Given the description of an element on the screen output the (x, y) to click on. 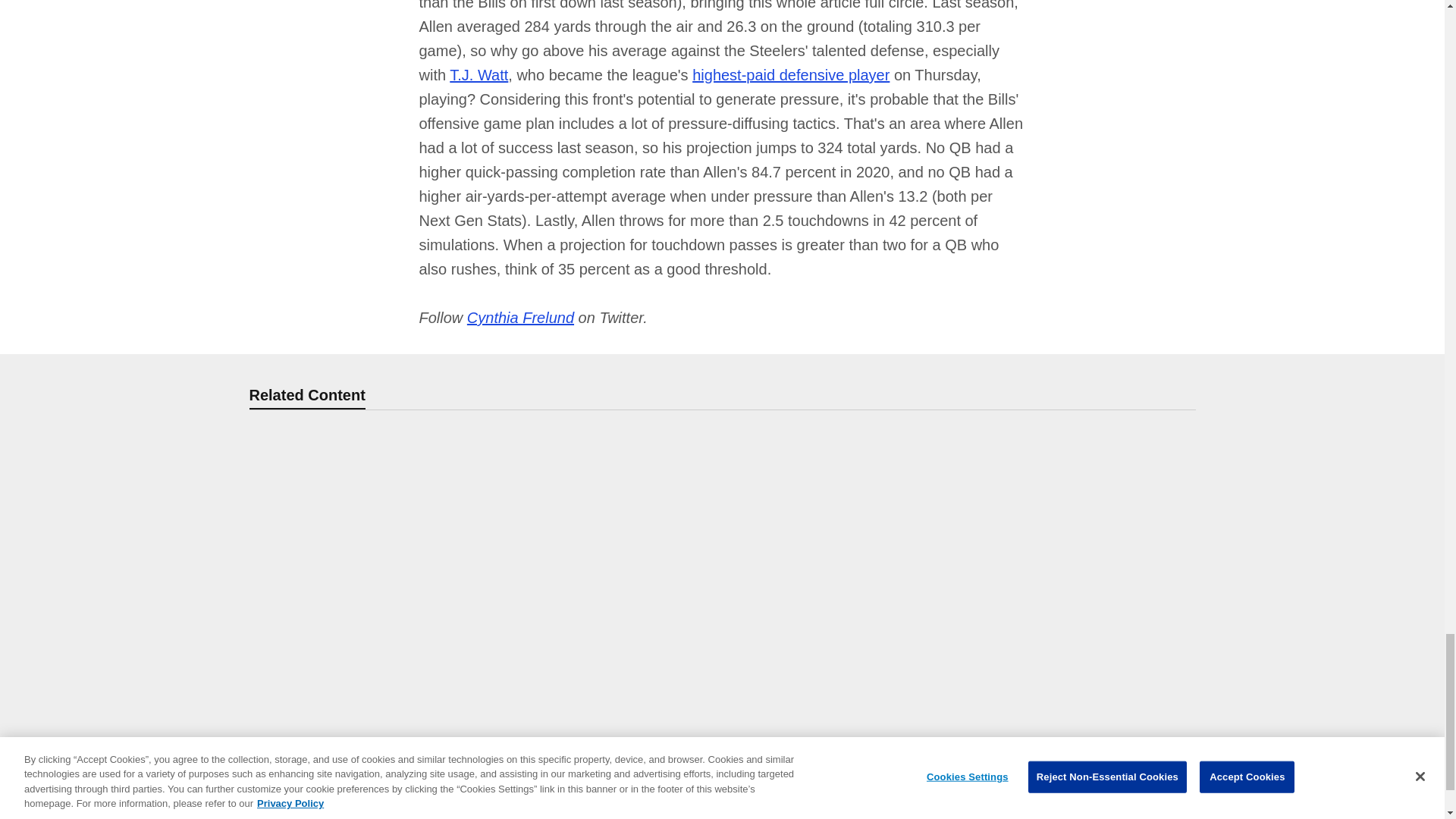
T.J. Watt (478, 74)
highest-paid defensive player (791, 74)
Cynthia Frelund (520, 317)
